Given the description of an element on the screen output the (x, y) to click on. 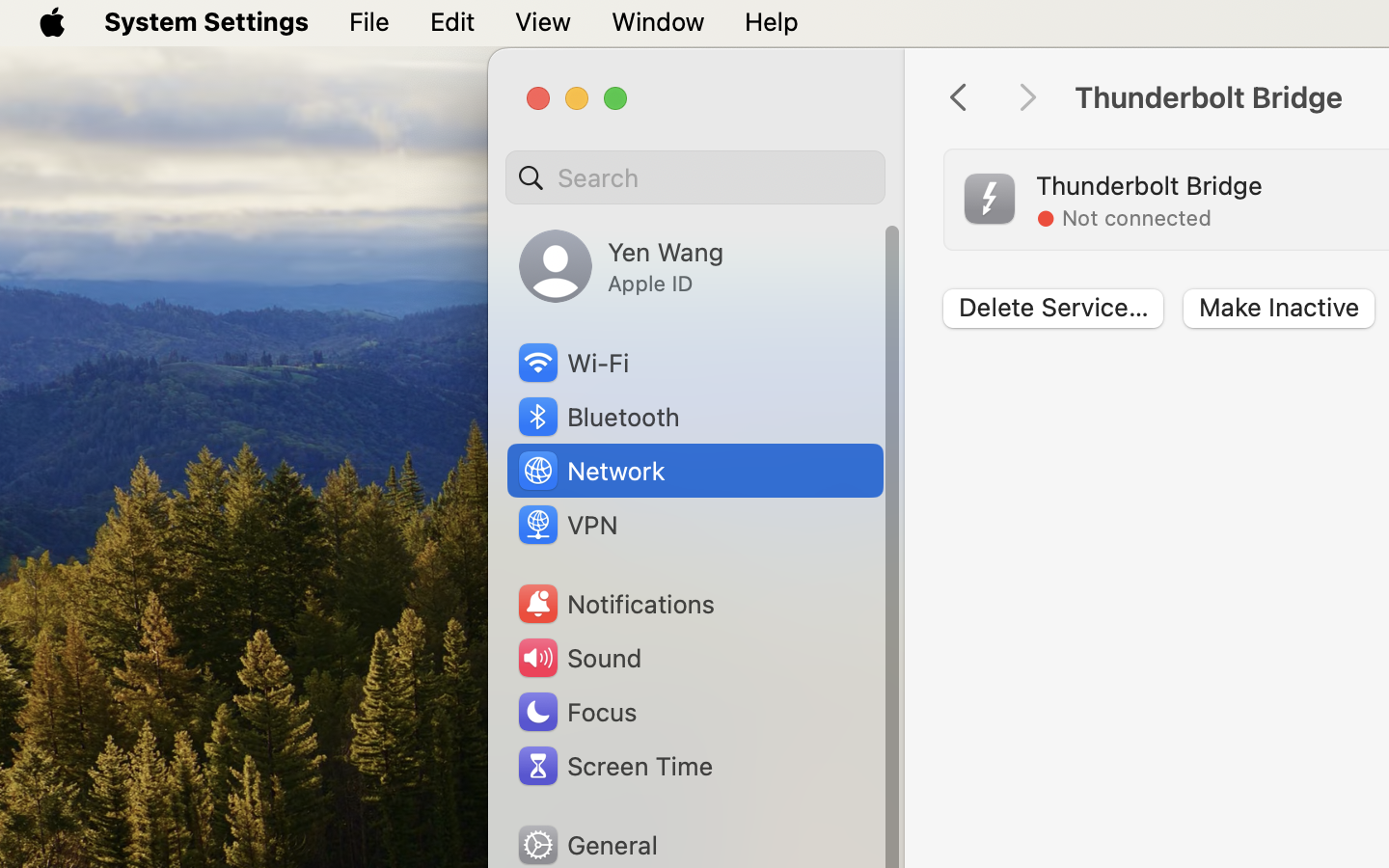
VPN Element type: AXStaticText (566, 524)
Sound Element type: AXStaticText (578, 657)
